Given the description of an element on the screen output the (x, y) to click on. 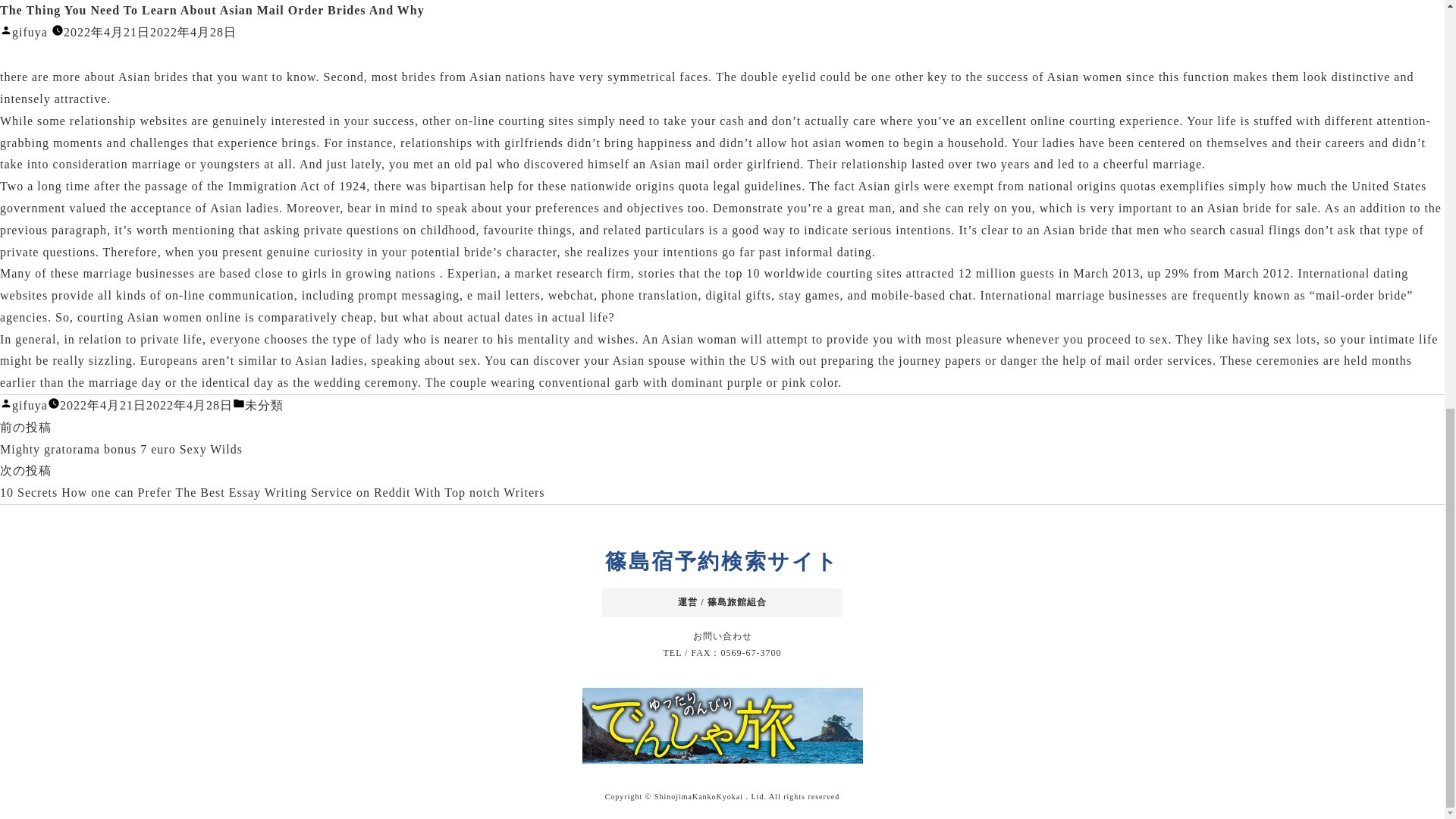
gifuya (29, 404)
0569-67-3700 (750, 652)
